Given the description of an element on the screen output the (x, y) to click on. 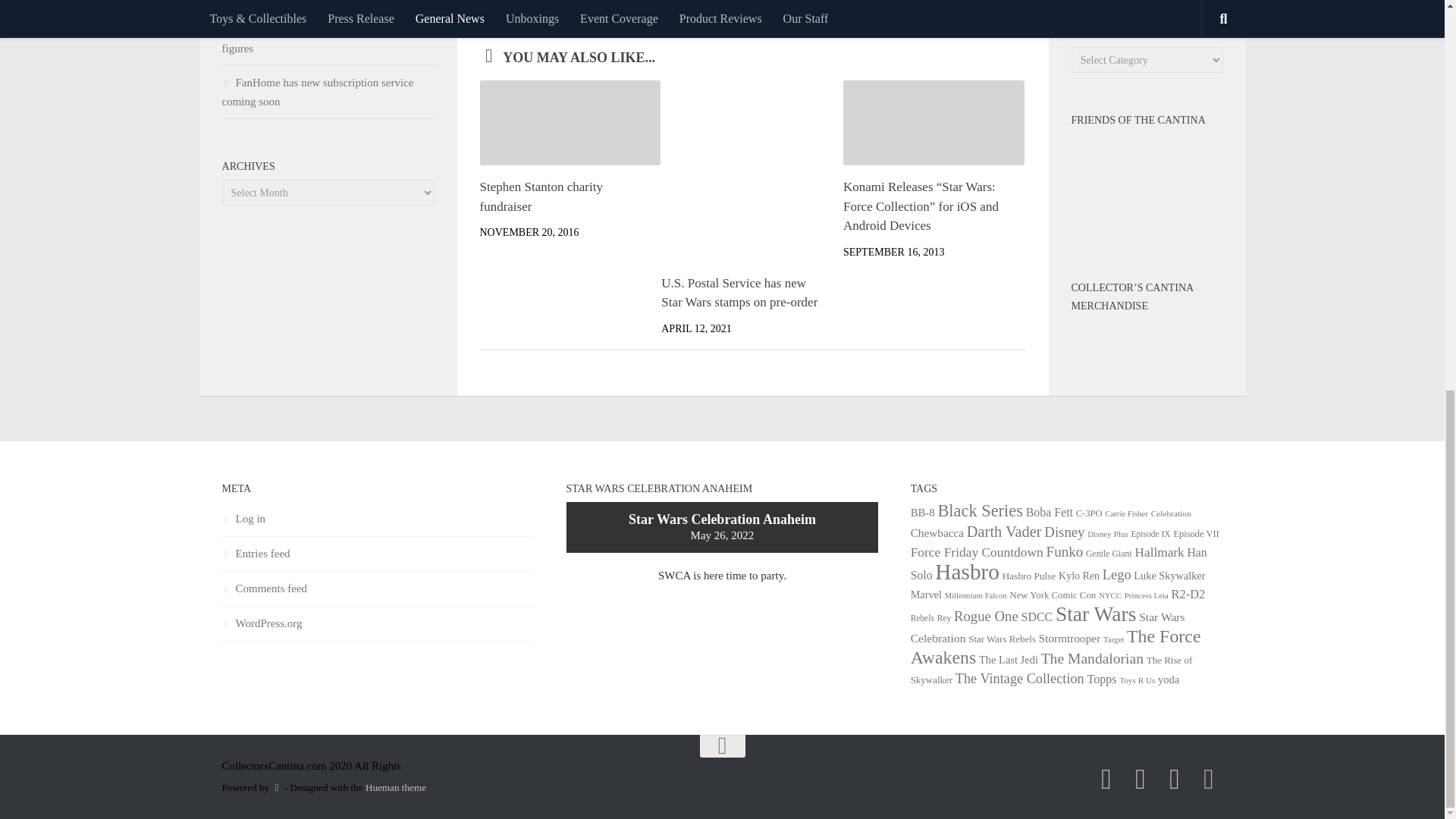
Stephen Stanton charity fundraiser (540, 196)
U.S. Postal Service has new Star Wars stamps on pre-order (738, 293)
lucasfilm (566, 7)
sidewalk (614, 7)
chalk (526, 7)
